Given the description of an element on the screen output the (x, y) to click on. 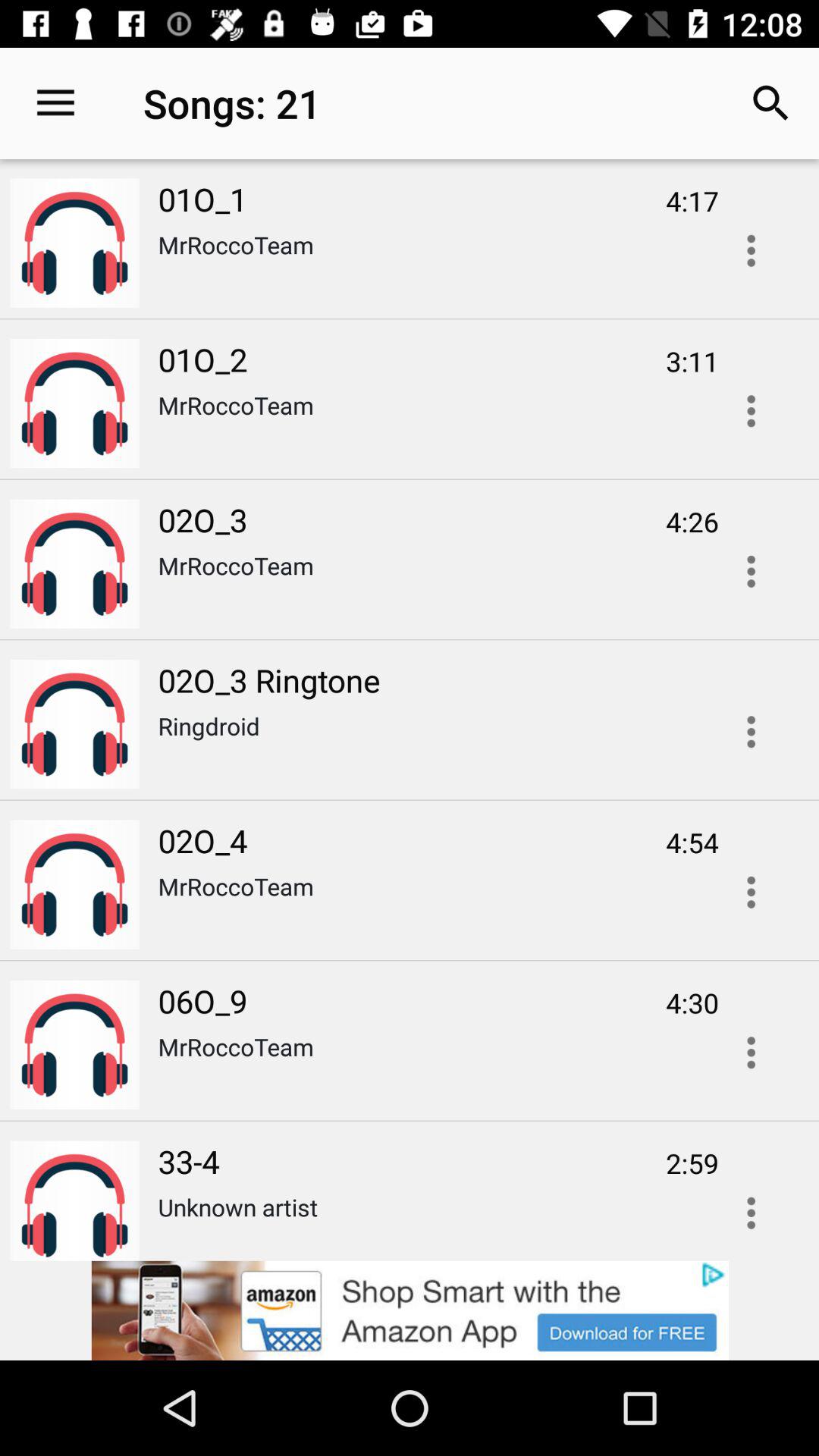
more music settings (750, 891)
